Given the description of an element on the screen output the (x, y) to click on. 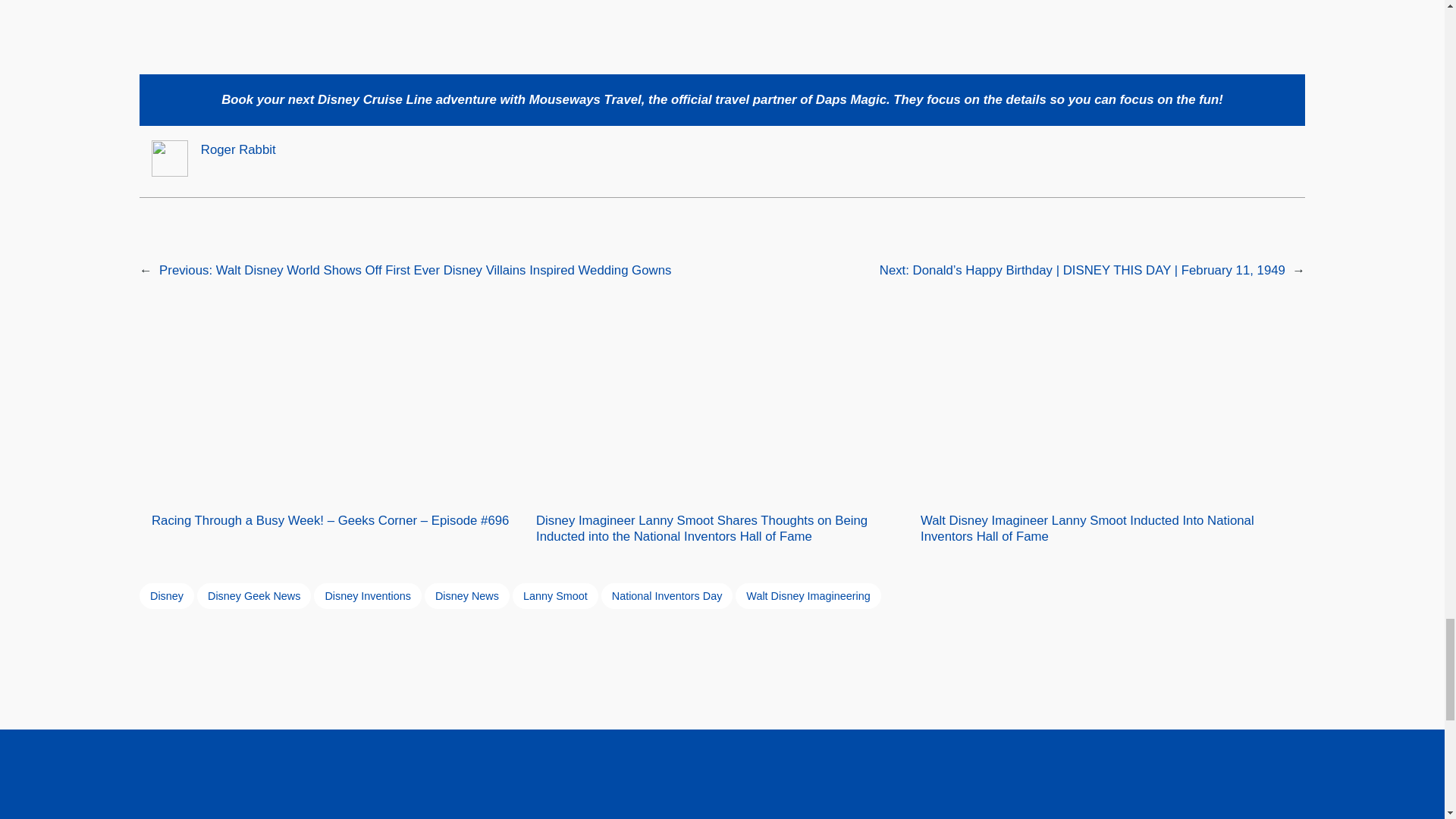
Roger Rabbit (238, 149)
